Given the description of an element on the screen output the (x, y) to click on. 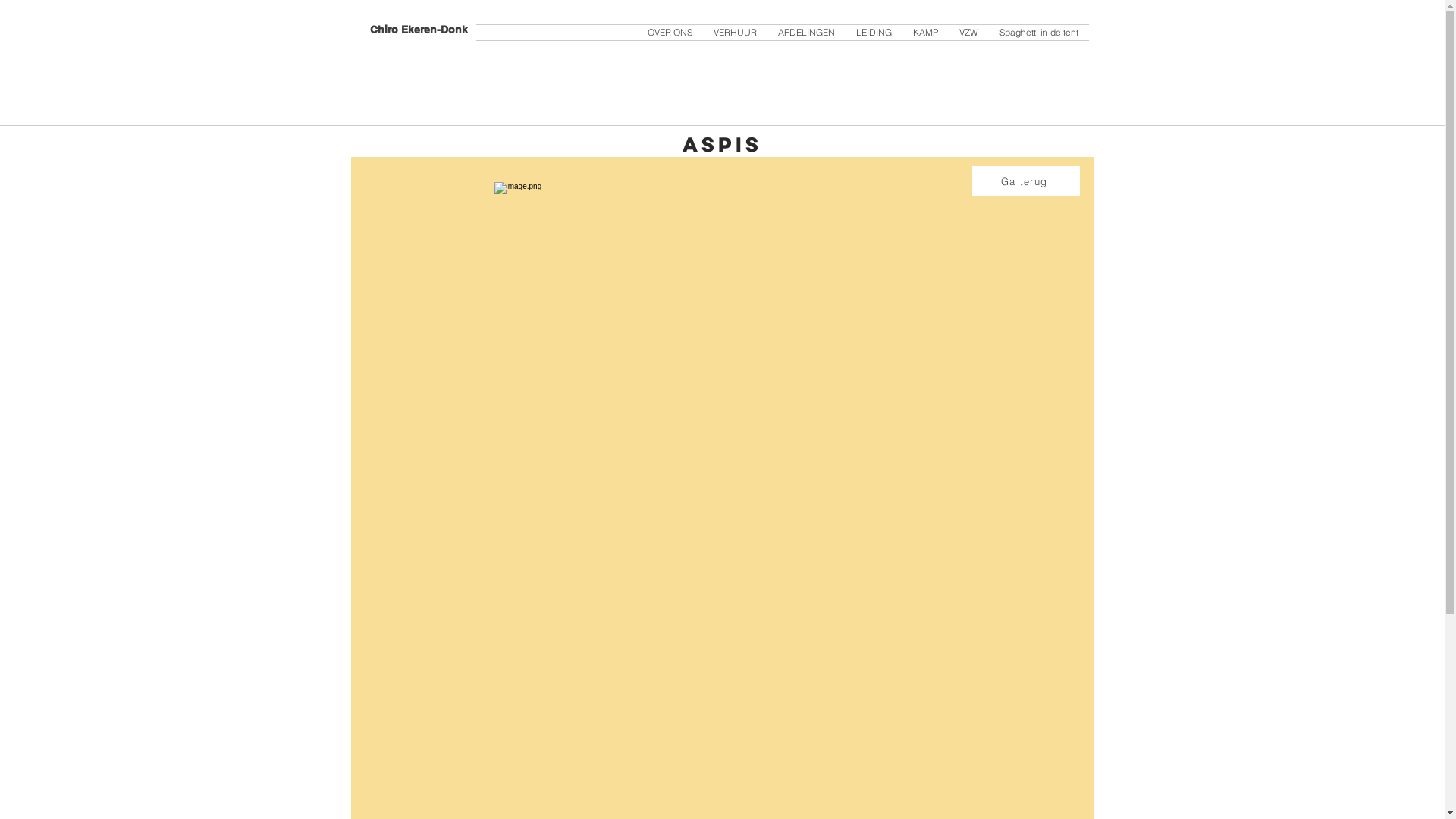
AFDELINGEN Element type: text (806, 32)
Ga terug Element type: text (1025, 181)
VERHUUR Element type: text (734, 32)
6d3854_a98a1783b84d48d395a4a9e206f872f3~mv2.png Element type: hover (717, 500)
KAMP Element type: text (925, 32)
VZW Element type: text (967, 32)
Chiro Ekeren-Donk Element type: text (418, 29)
LEIDING Element type: text (872, 32)
Spaghetti in de tent Element type: text (1038, 32)
OVER ONS Element type: text (669, 32)
